Given the description of an element on the screen output the (x, y) to click on. 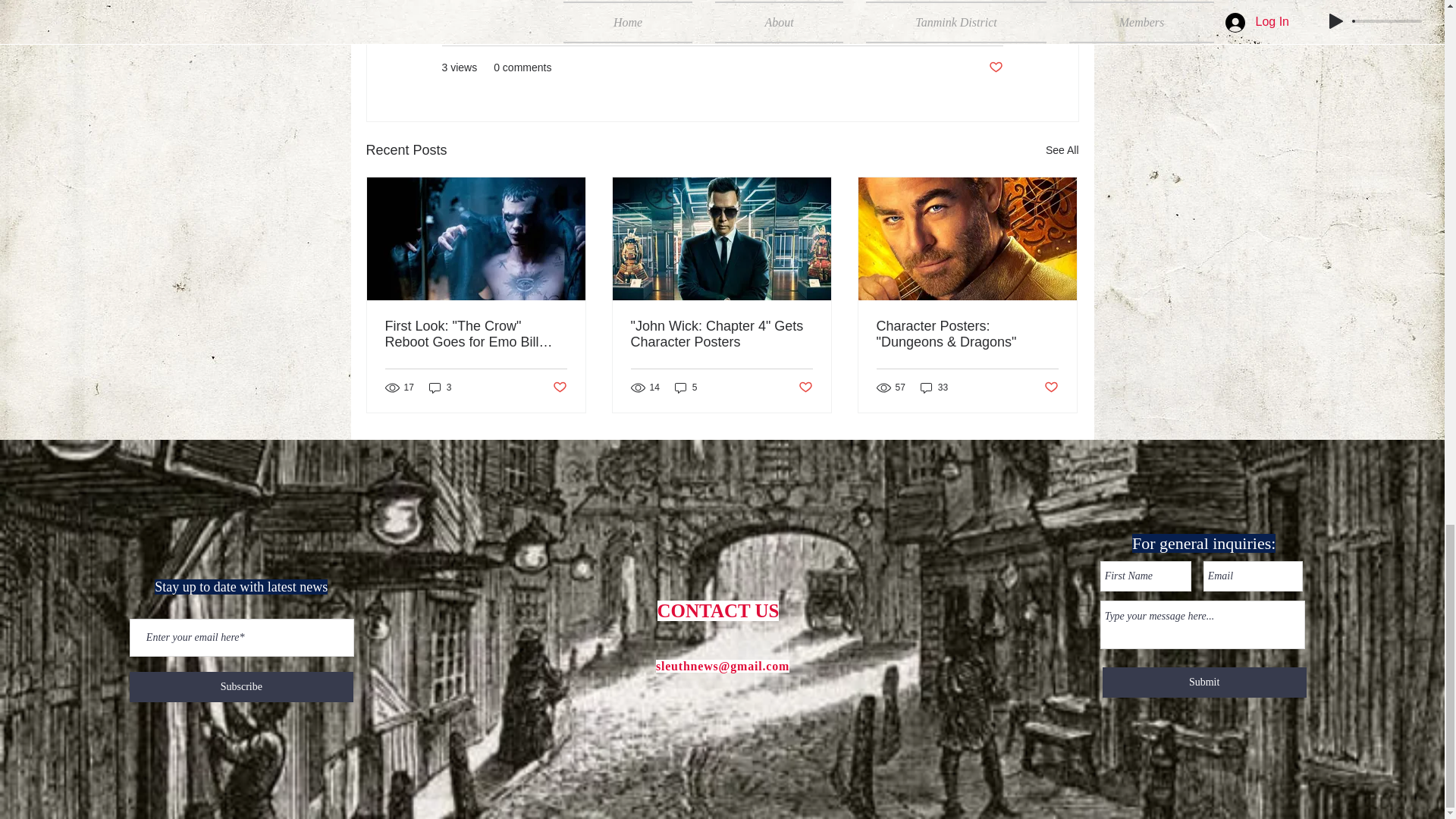
Post not marked as liked (1050, 387)
Post not marked as liked (804, 387)
Post not marked as liked (558, 387)
See All (1061, 150)
5 (685, 387)
33 (933, 387)
Post not marked as liked (995, 67)
Photos (986, 22)
3 (440, 387)
"John Wick: Chapter 4" Gets Character Posters (721, 334)
